Given the description of an element on the screen output the (x, y) to click on. 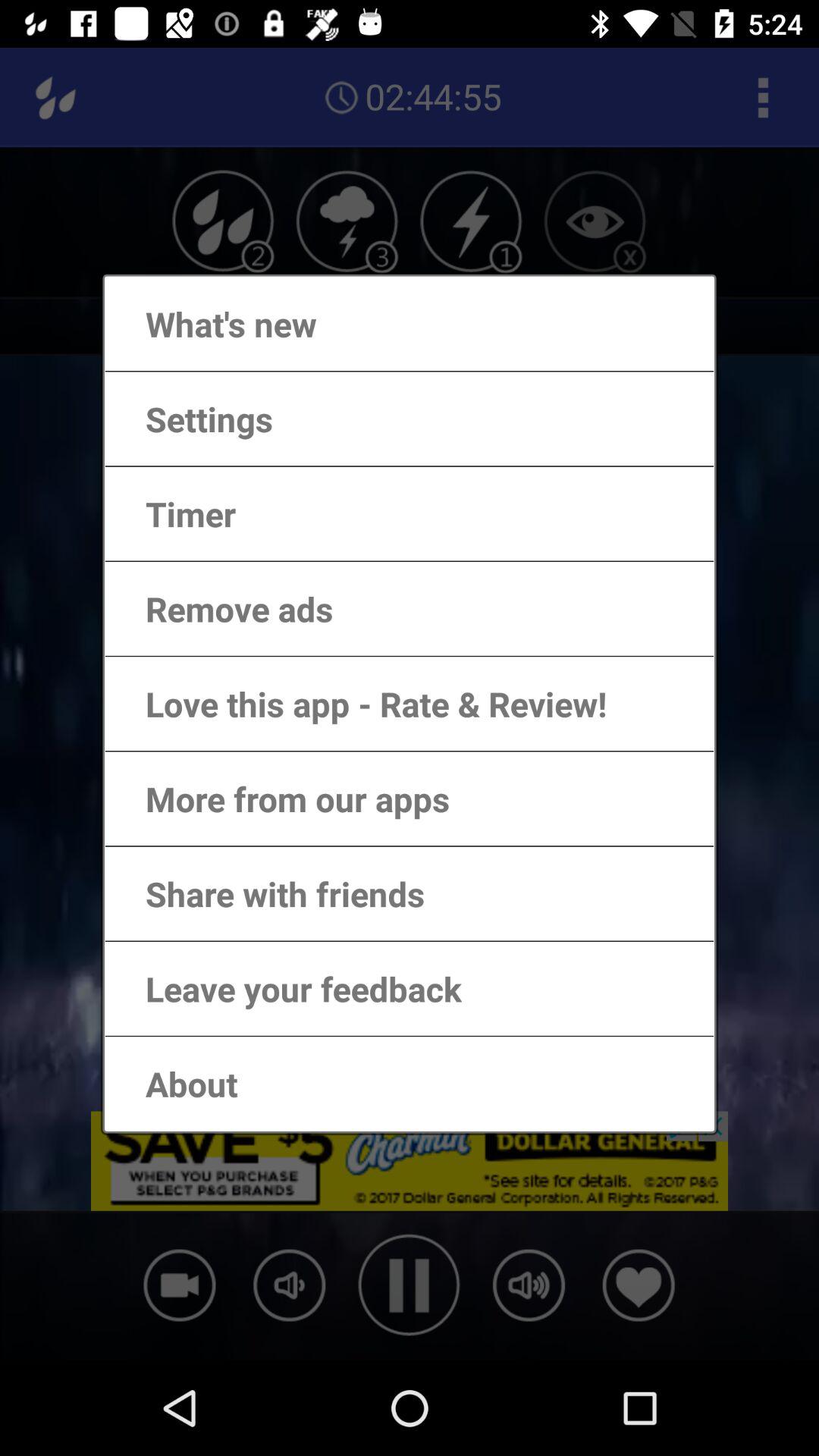
press app above remove ads (175, 513)
